Given the description of an element on the screen output the (x, y) to click on. 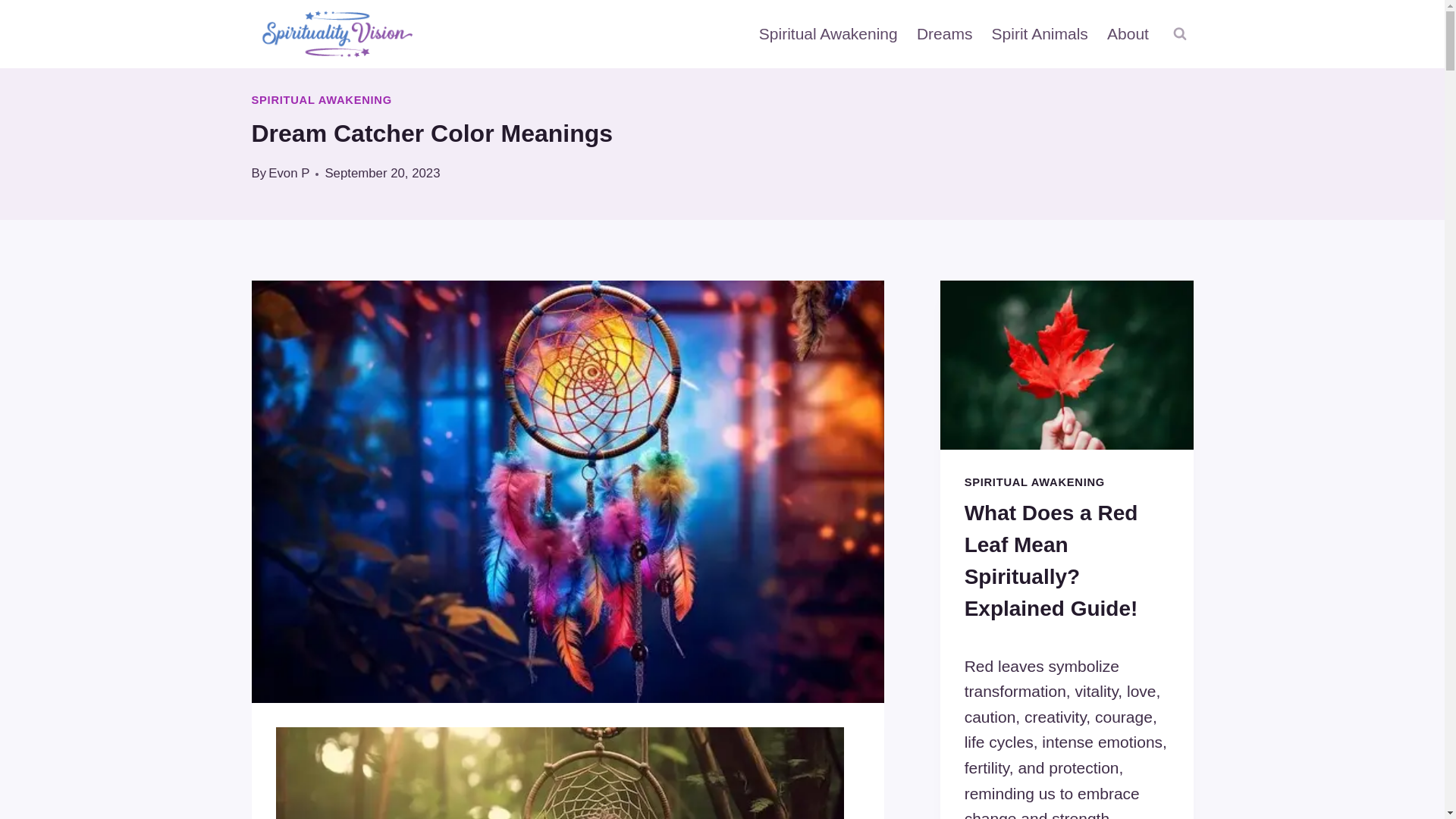
Spiritual Awakening (828, 34)
SPIRITUAL AWAKENING (321, 100)
Evon P (287, 173)
Dreams (944, 34)
Spirit Animals (1039, 34)
About (1127, 34)
